Given the description of an element on the screen output the (x, y) to click on. 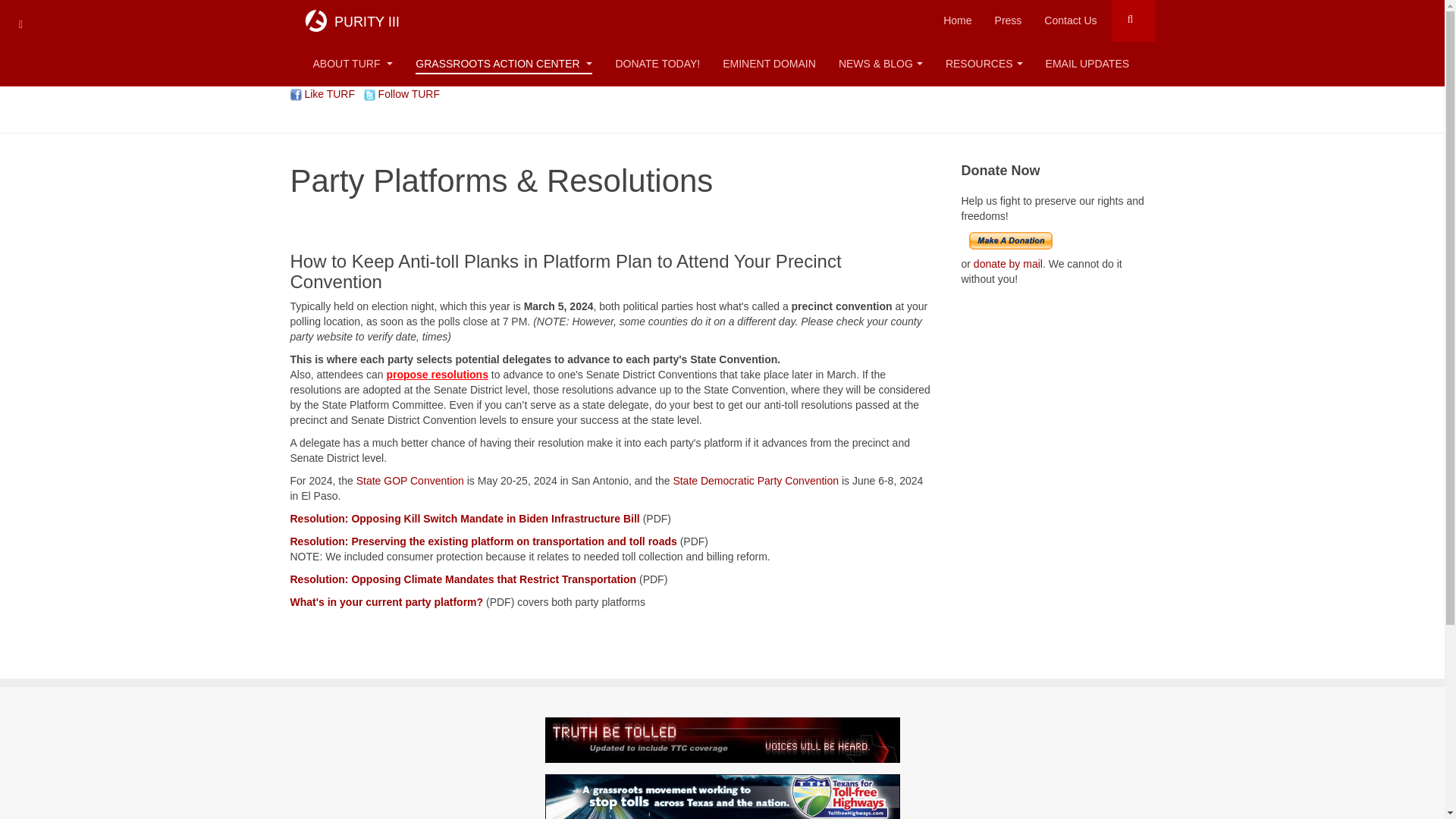
Texans for Toll-Free Highways (721, 796)
Truth Be Tolled (721, 738)
Home (956, 20)
Press (1008, 20)
Contact Us (1070, 20)
